Given the description of an element on the screen output the (x, y) to click on. 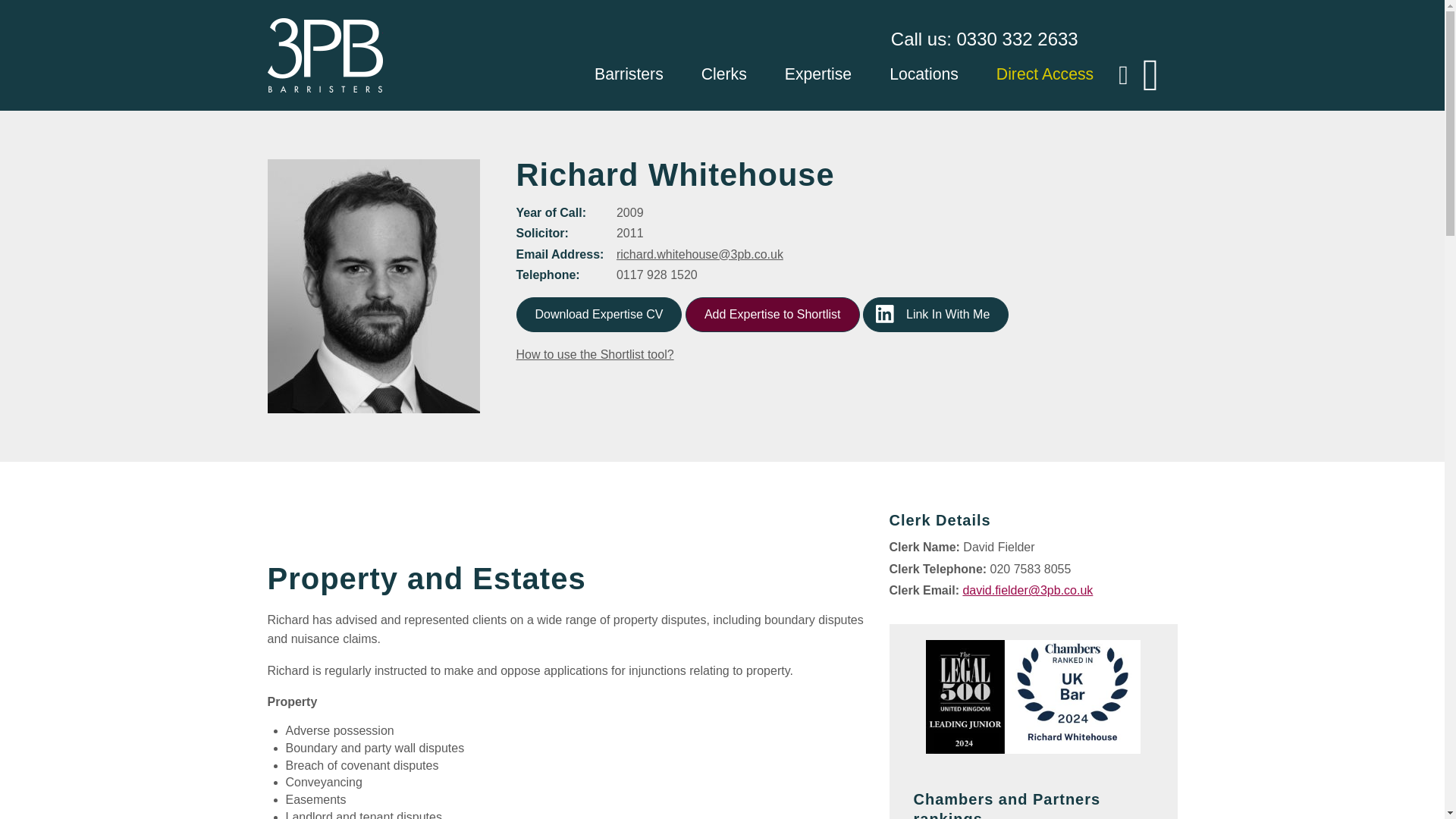
Search (8, 9)
Locations (923, 75)
3PB Barristers (323, 55)
Clerks (723, 75)
Barristers (628, 75)
Call us: 0330 332 2633 (984, 38)
Expertise (817, 75)
Direct Access (1044, 75)
